Given the description of an element on the screen output the (x, y) to click on. 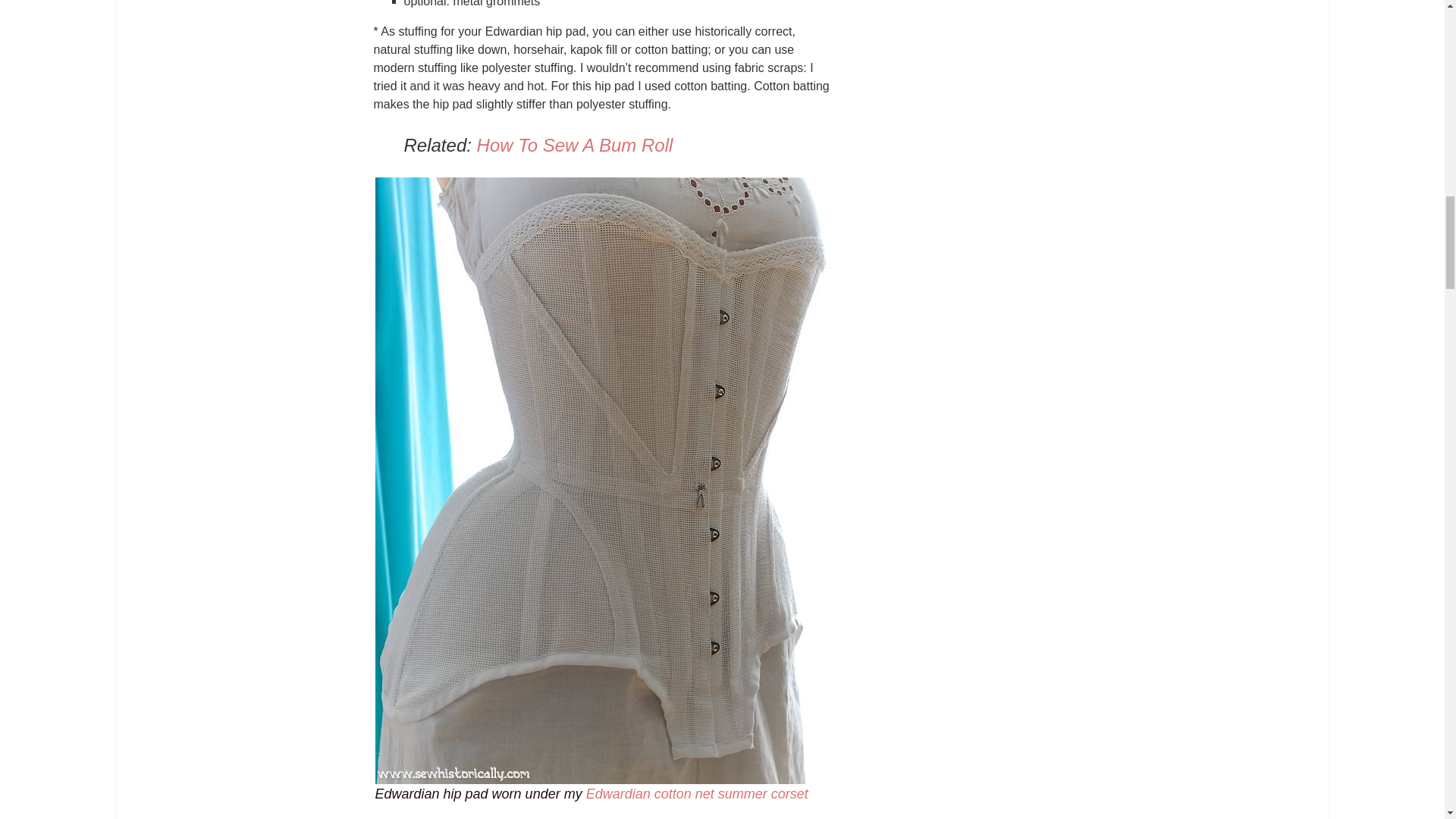
How To Sew A Bum Roll (574, 145)
